Given the description of an element on the screen output the (x, y) to click on. 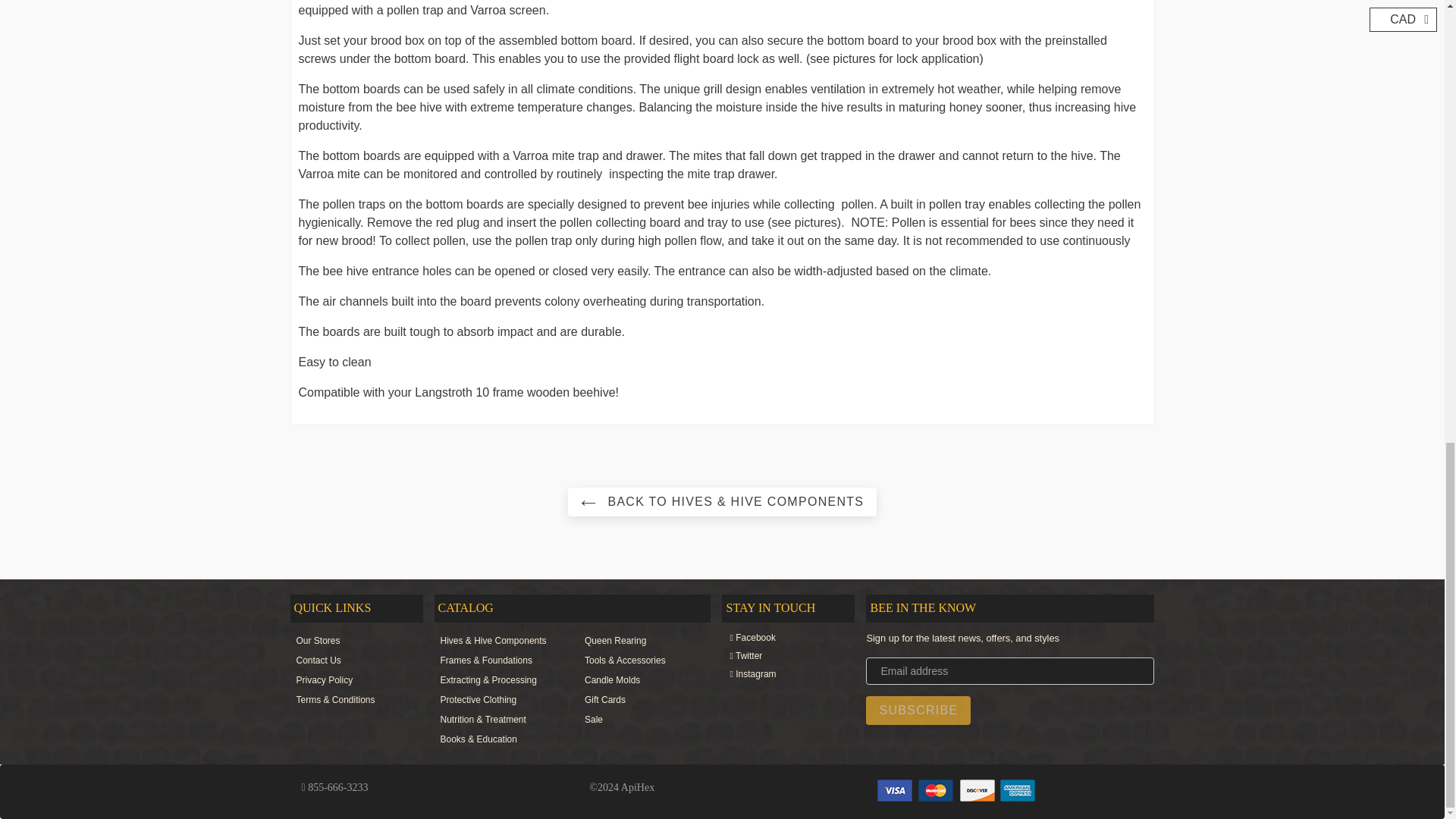
ApiHex on Facebook (780, 637)
ApiHex on Instagram (780, 673)
ApiHex on Twitter (780, 655)
